Given the description of an element on the screen output the (x, y) to click on. 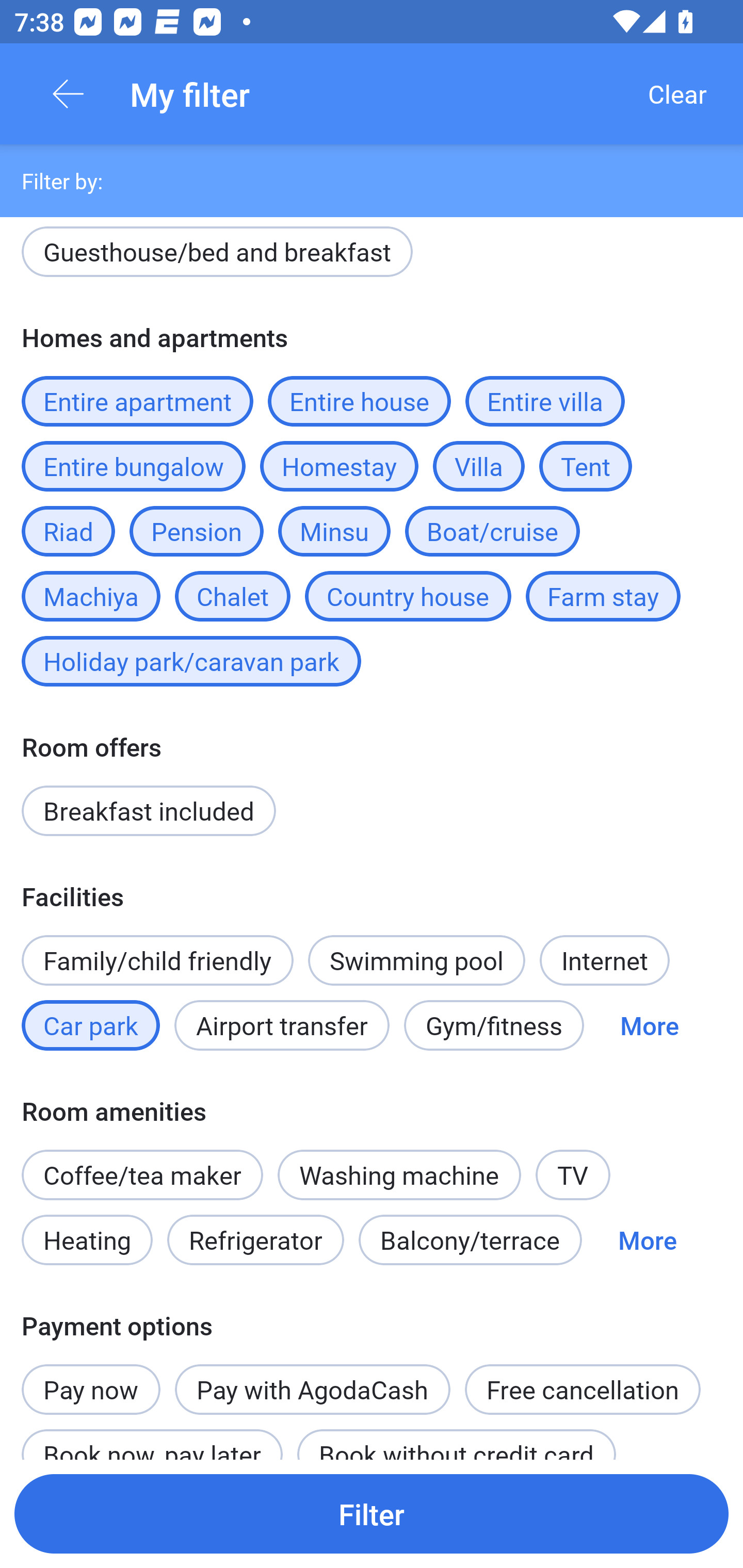
Clear (676, 93)
Guesthouse/bed and breakfast (217, 255)
Breakfast included (148, 810)
Family/child friendly (157, 960)
Swimming pool (416, 960)
Internet (604, 960)
Airport transfer (281, 1025)
Gym/fitness (493, 1025)
More (649, 1025)
Coffee/tea maker (142, 1175)
Washing machine (398, 1175)
TV (572, 1175)
Heating (87, 1239)
Refrigerator (255, 1239)
Balcony/terrace (469, 1239)
More (647, 1239)
Pay now (90, 1378)
Pay with AgodaCash (312, 1389)
Free cancellation (582, 1389)
Filter (371, 1513)
